Given the description of an element on the screen output the (x, y) to click on. 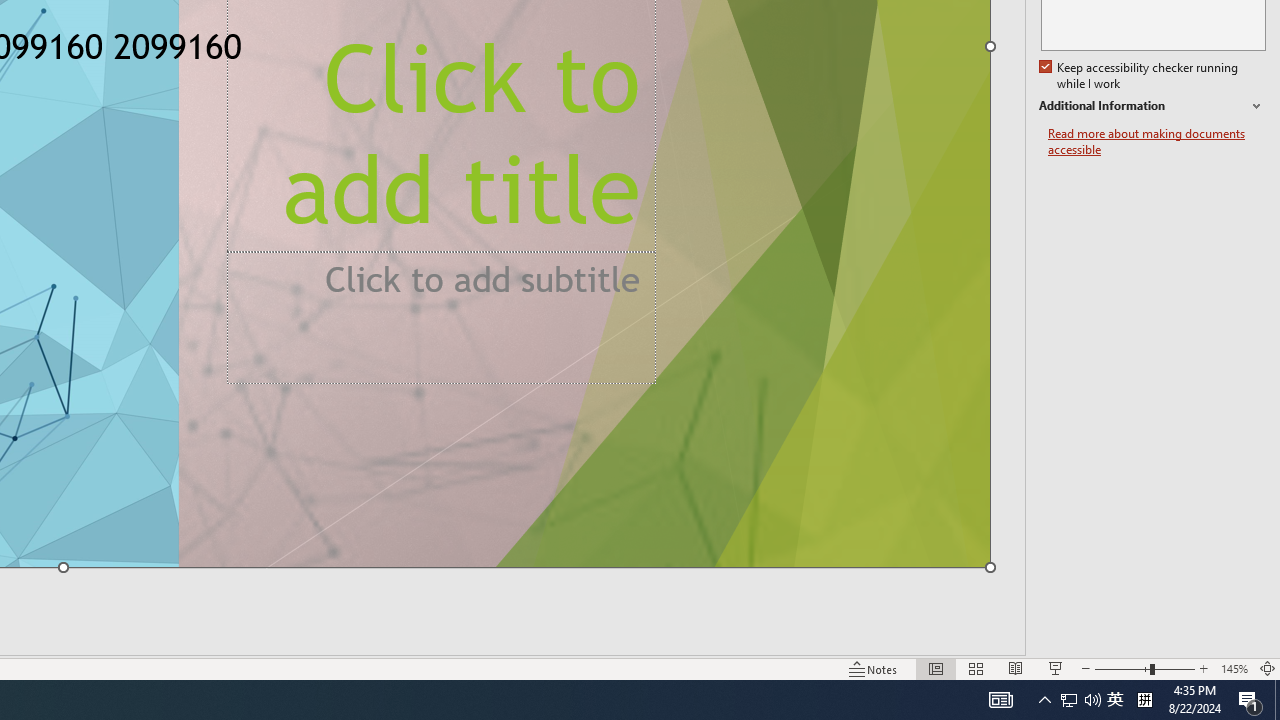
Action Center, 1 new notification (1250, 699)
Zoom 145% (1234, 668)
